Given the description of an element on the screen output the (x, y) to click on. 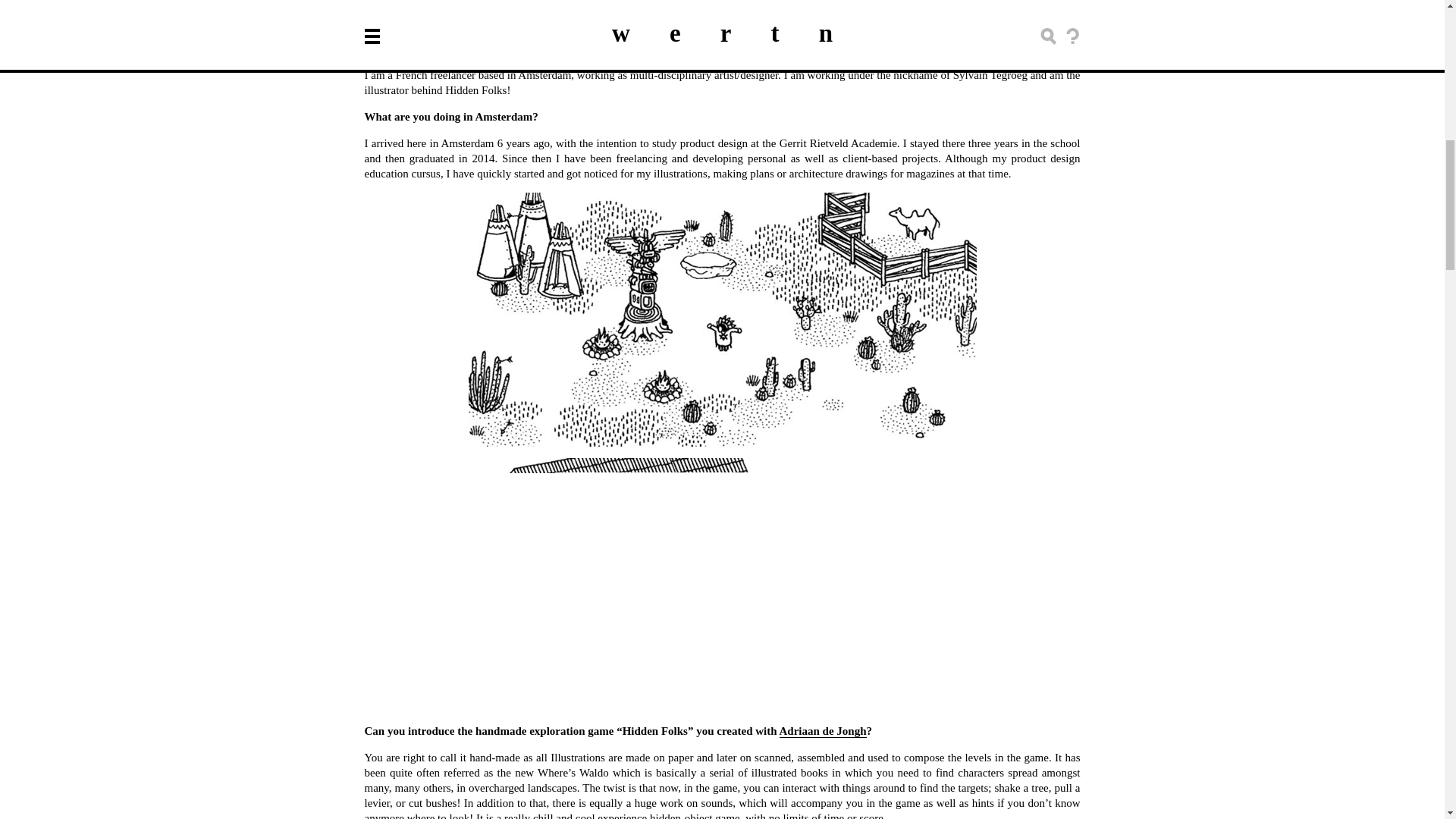
Sylvain Tegroeg (571, 21)
Hidden Folks (911, 21)
Adriaan de Jongh (822, 730)
